Given the description of an element on the screen output the (x, y) to click on. 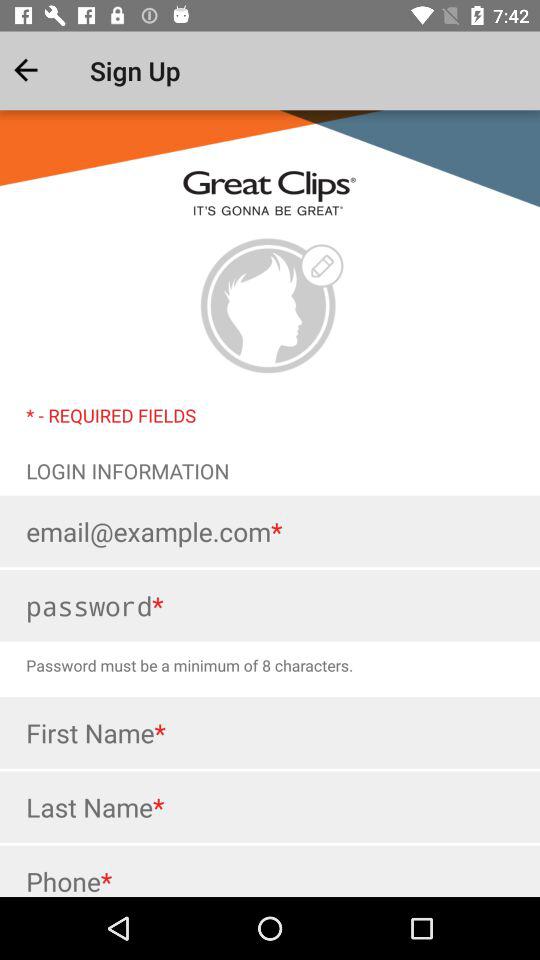
put email (269, 531)
